Given the description of an element on the screen output the (x, y) to click on. 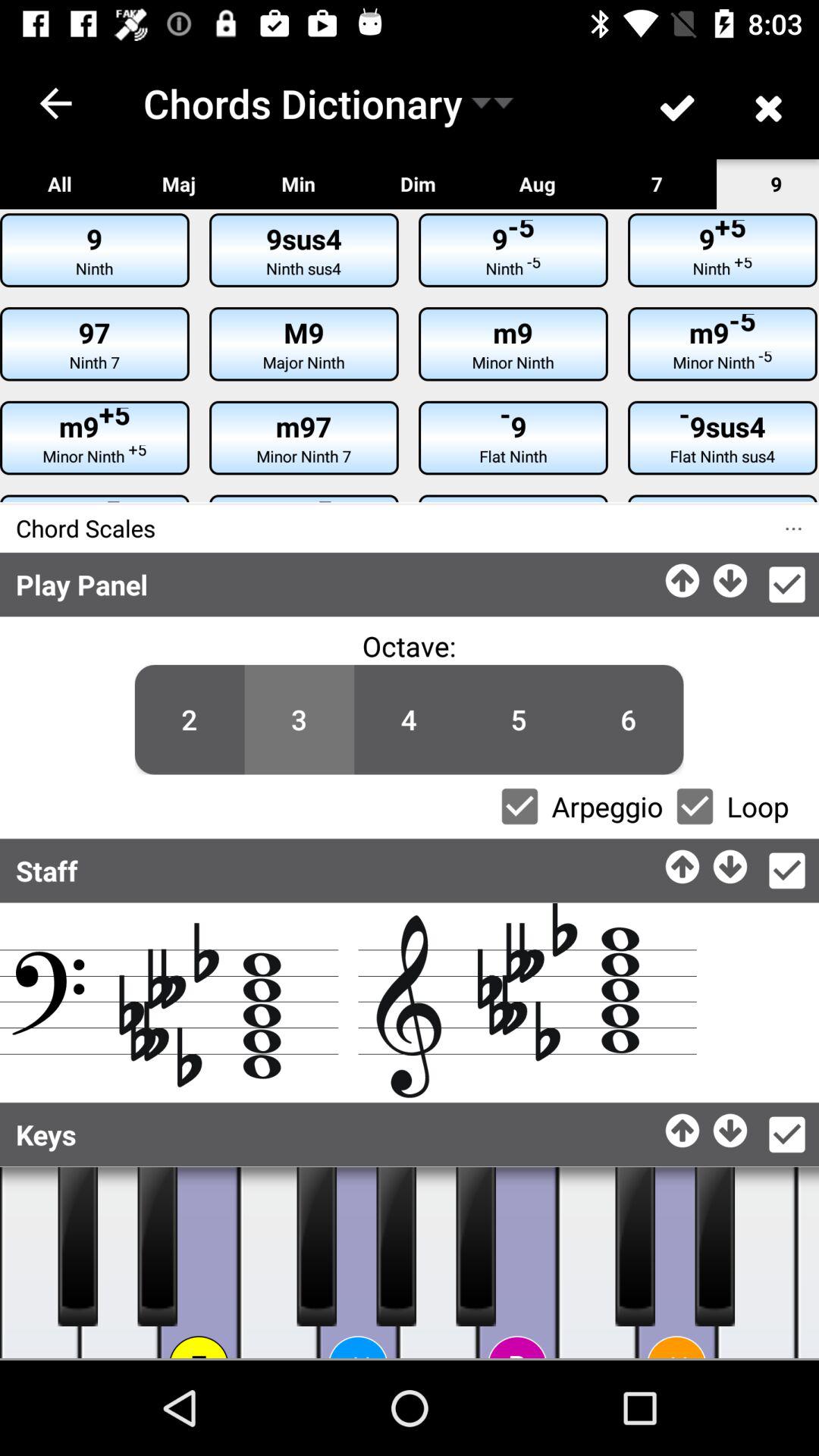
ok button (787, 870)
